Given the description of an element on the screen output the (x, y) to click on. 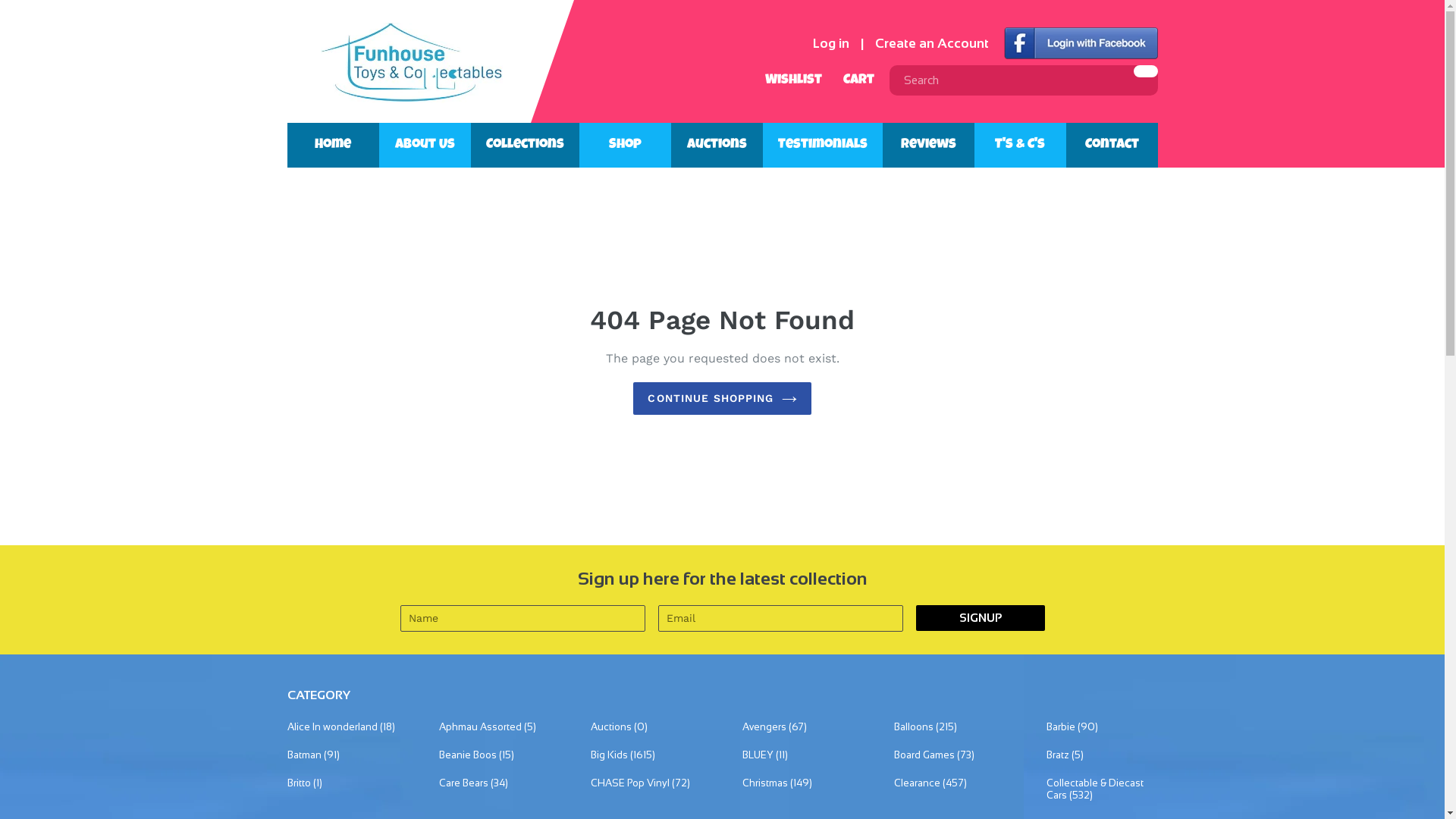
Reviews Element type: text (928, 144)
Batman (91) Element type: text (342, 755)
Barbie (90) Element type: text (1101, 727)
Avengers (67) Element type: text (797, 727)
Cart Element type: text (855, 80)
Auctions Element type: text (716, 144)
Wishlist Element type: text (790, 80)
Alice In wonderland (18) Element type: text (342, 727)
Auctions (0) Element type: text (646, 727)
Collections Element type: text (524, 144)
CONTINUE SHOPPING Element type: text (721, 398)
Aphmau Assorted (5) Element type: text (494, 727)
SIGNUP Element type: text (980, 617)
Create an Account Element type: text (931, 43)
Contact Element type: text (1111, 144)
Balloons (215) Element type: text (949, 727)
Log in Element type: text (830, 43)
CHASE Pop Vinyl (72) Element type: text (646, 782)
Testimonials Element type: text (822, 144)
Collectable & Diecast Cars (532) Element type: text (1101, 789)
Beanie Boos (15) Element type: text (494, 755)
Clearance (457) Element type: text (949, 782)
Care Bears (34) Element type: text (494, 782)
Bratz (5) Element type: text (1101, 755)
Christmas (149) Element type: text (797, 782)
T's & C's Element type: text (1019, 144)
Britto (1) Element type: text (342, 782)
About Us Element type: text (424, 144)
Home Element type: text (332, 144)
Shop Element type: text (625, 144)
BLUEY (11) Element type: text (797, 755)
Board Games (73) Element type: text (949, 755)
Big Kids (1615) Element type: text (646, 755)
